Given the description of an element on the screen output the (x, y) to click on. 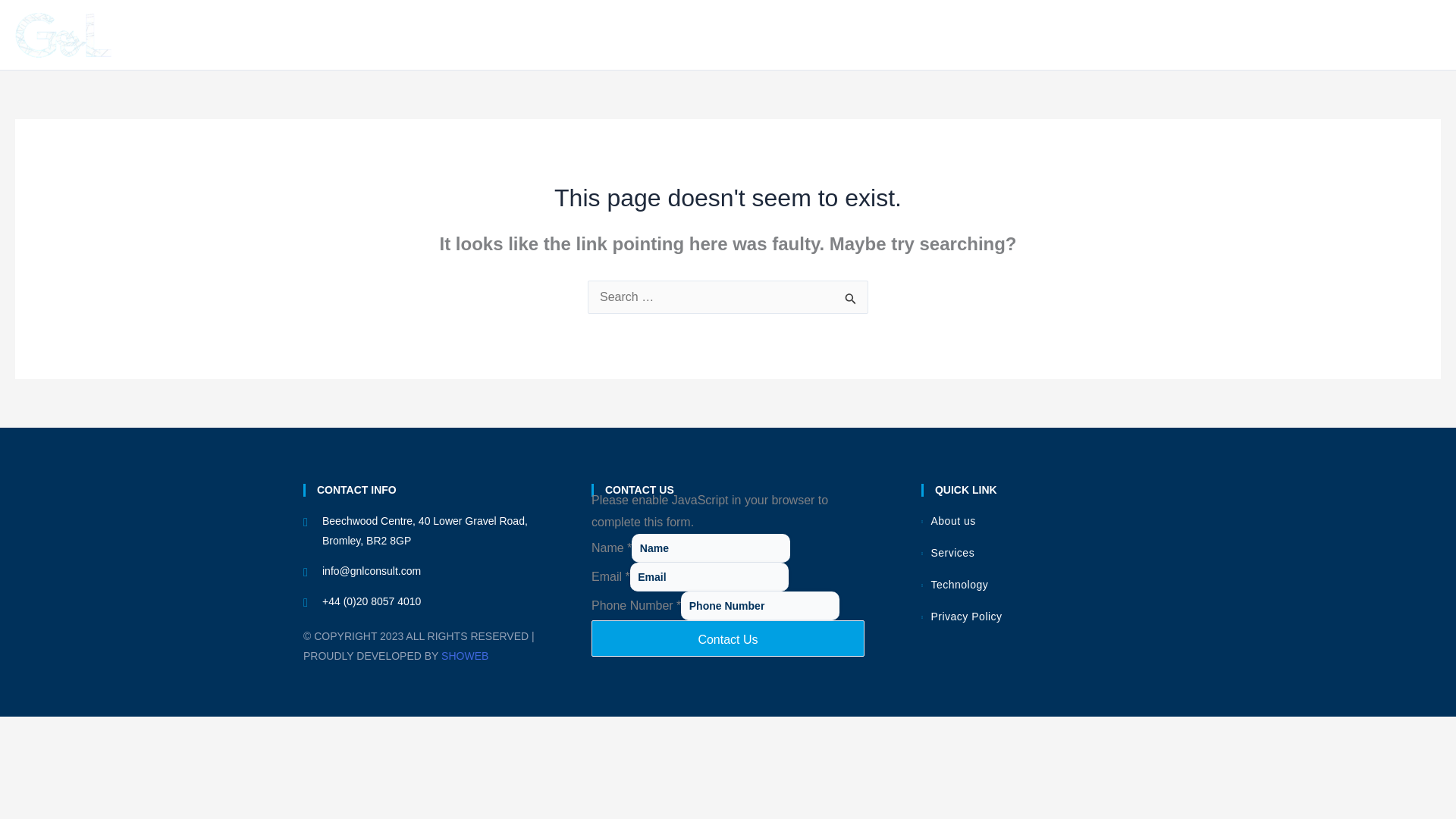
Technology (1299, 34)
Home (1035, 34)
Contact Us (1396, 34)
About Us (1110, 34)
Services (1201, 34)
